Given the description of an element on the screen output the (x, y) to click on. 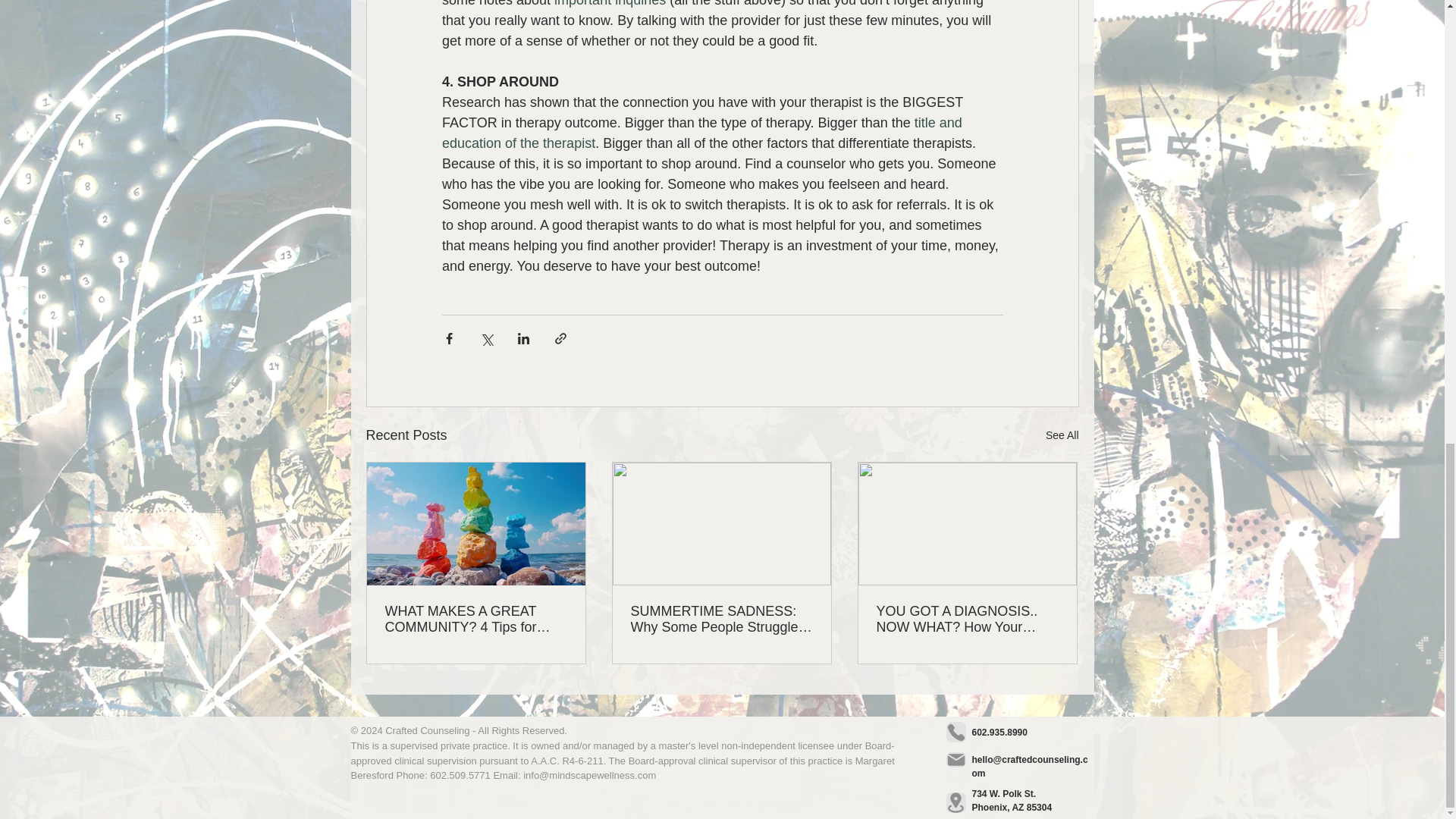
title and education of the therapist (703, 132)
important inquiries (609, 3)
See All (1061, 435)
